Given the description of an element on the screen output the (x, y) to click on. 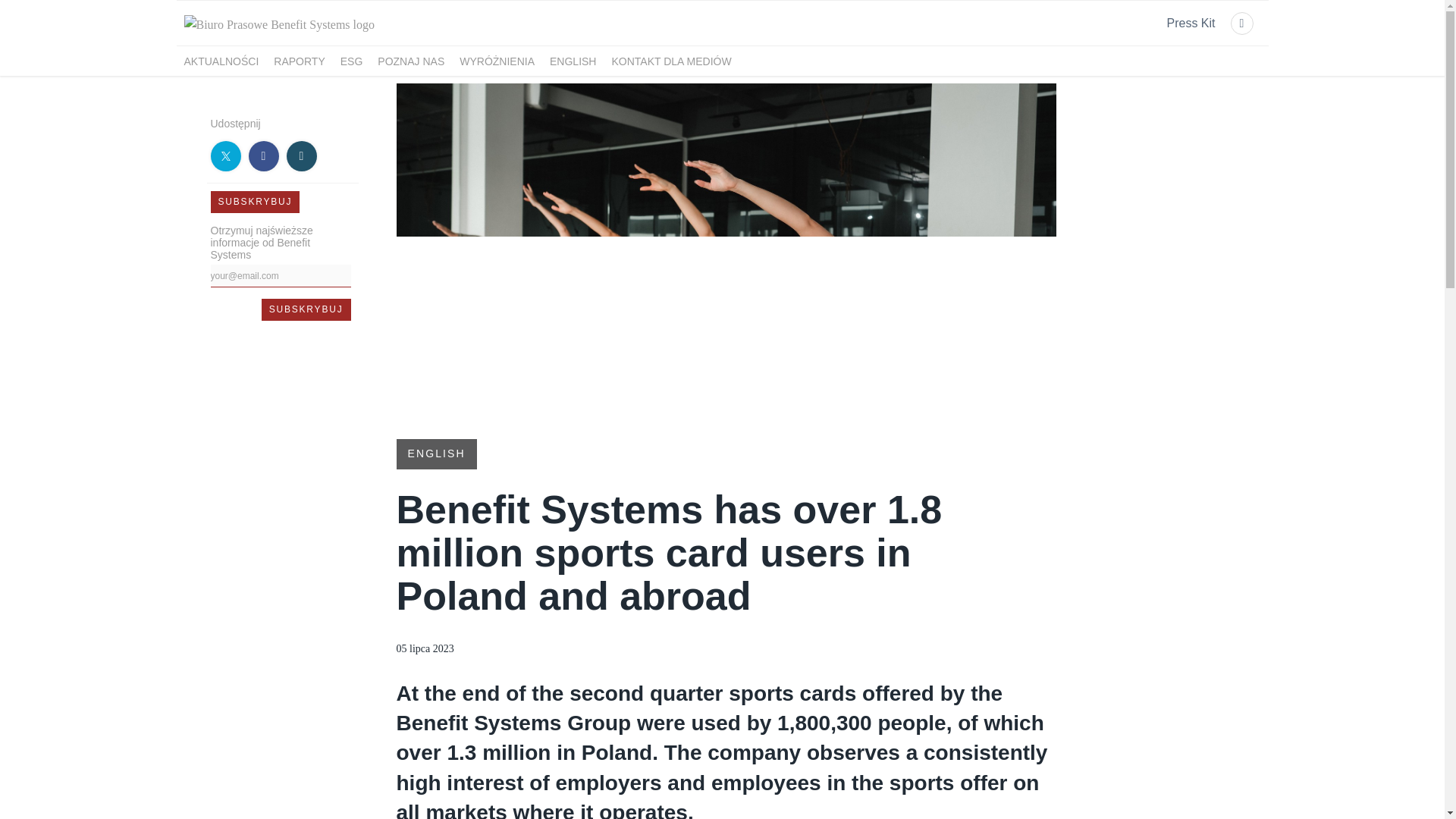
SUBSKRYBUJ (306, 309)
ENGLISH (436, 452)
ESG (351, 61)
SUBSKRYBUJ (306, 309)
POZNAJ NAS (410, 61)
ENGLISH (572, 61)
Press Kit (1190, 23)
RAPORTY (298, 61)
Biuro Prasowe Benefit Systems (278, 24)
